Given the description of an element on the screen output the (x, y) to click on. 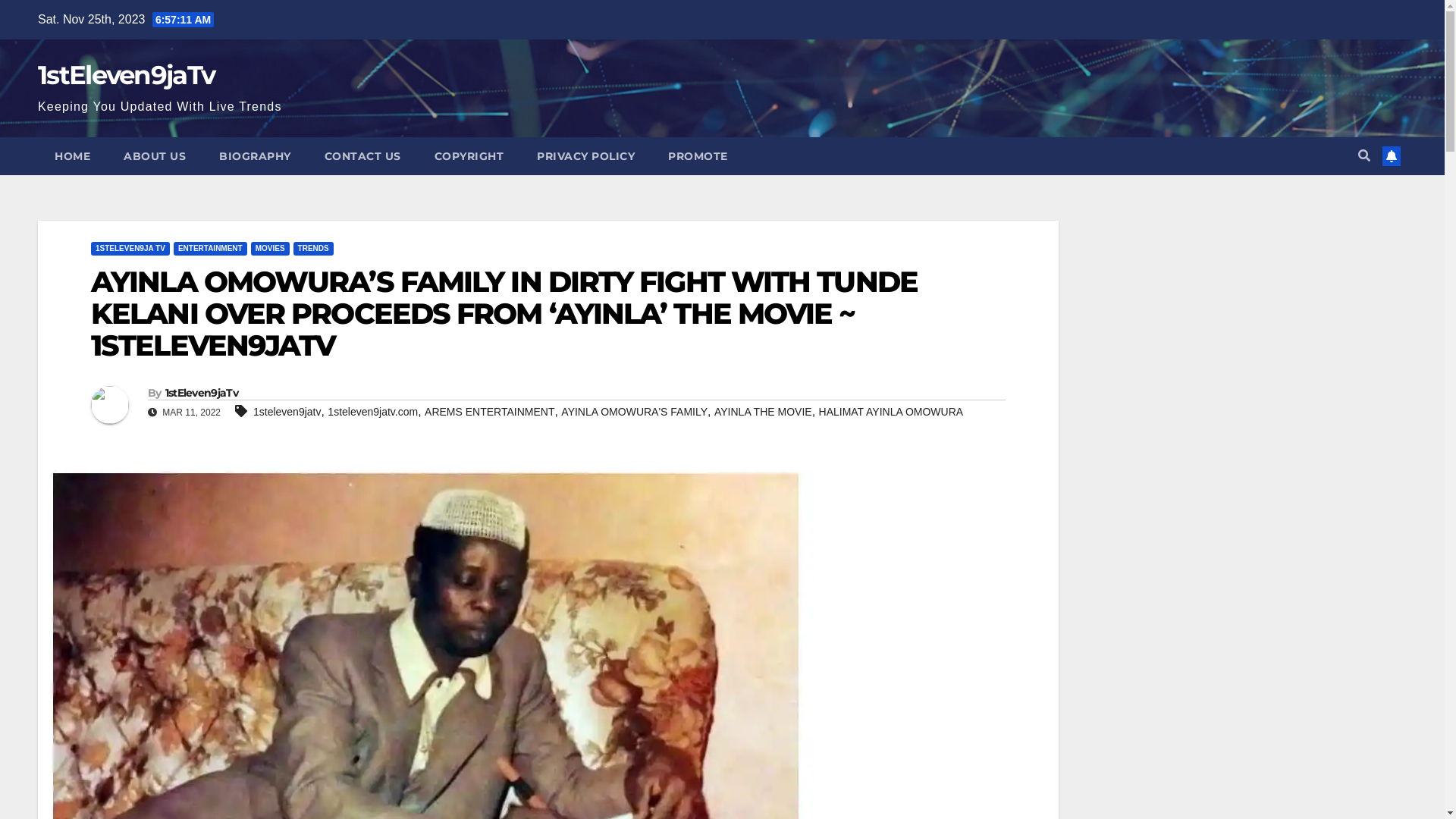
ABOUT US Element type: text (154, 156)
ENTERTAINMENT Element type: text (210, 248)
1stEleven9jaTv Element type: text (201, 392)
AREMS ENTERTAINMENT Element type: text (489, 411)
1STELEVEN9JA TV Element type: text (130, 248)
AYINLA OMOWURA'S FAMILY Element type: text (634, 411)
AYINLA THE MOVIE Element type: text (763, 411)
1steleven9jatv.com Element type: text (372, 411)
MOVIES Element type: text (270, 248)
PROMOTE Element type: text (697, 156)
1steleven9jatv Element type: text (287, 411)
HOME Element type: text (71, 156)
CONTACT US Element type: text (362, 156)
TRENDS Element type: text (313, 248)
BIOGRAPHY Element type: text (254, 156)
HALIMAT AYINLA OMOWURA Element type: text (891, 411)
PRIVACY POLICY Element type: text (585, 156)
COPYRIGHT Element type: text (468, 156)
1stEleven9jaTv Element type: text (125, 75)
